Given the description of an element on the screen output the (x, y) to click on. 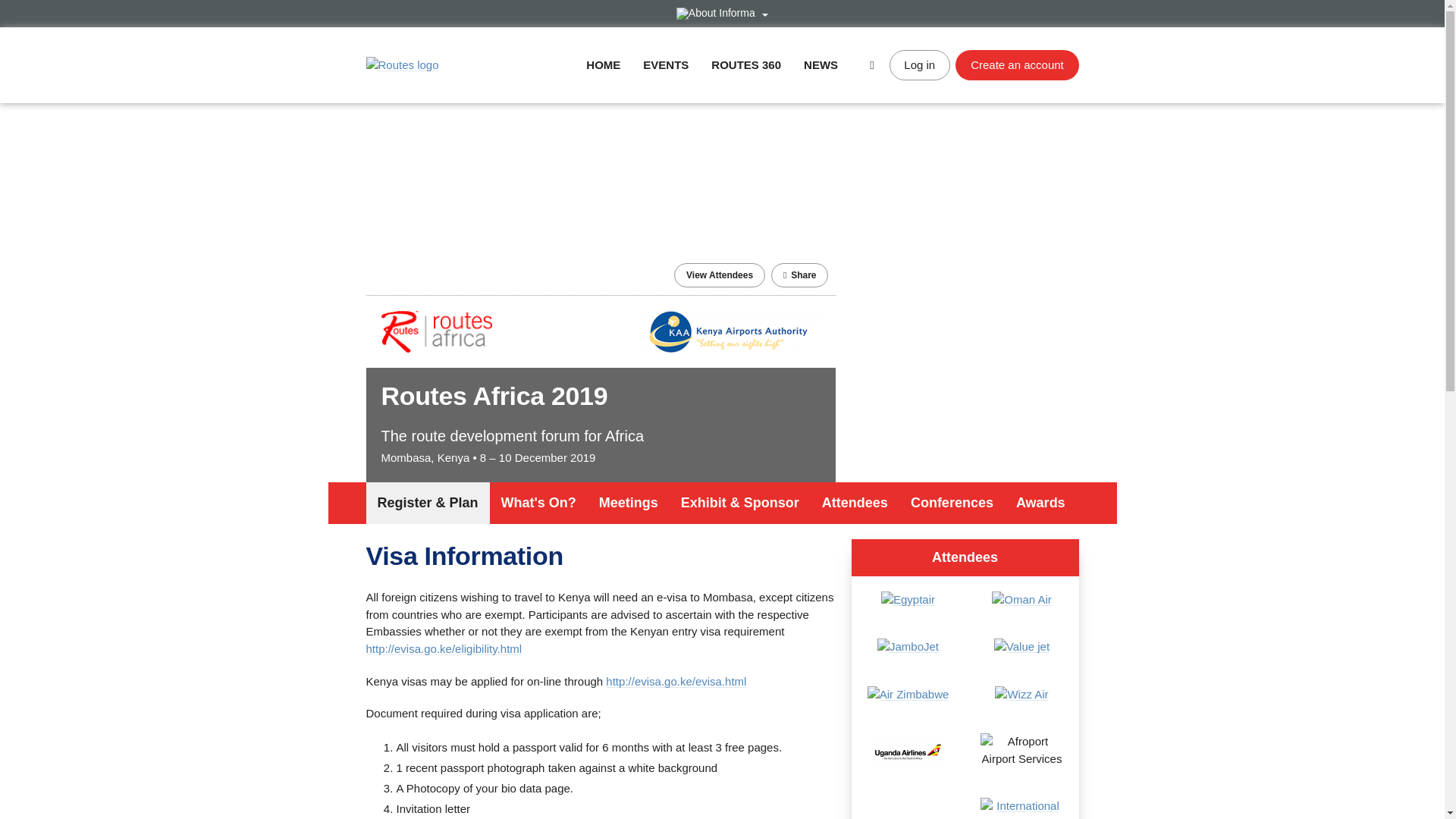
HOME (603, 64)
Log in (919, 64)
NEWS (820, 64)
Routes (401, 64)
ROUTES 360 (745, 64)
View Attendees (719, 274)
EVENTS (665, 64)
Create an account (1016, 64)
